Given the description of an element on the screen output the (x, y) to click on. 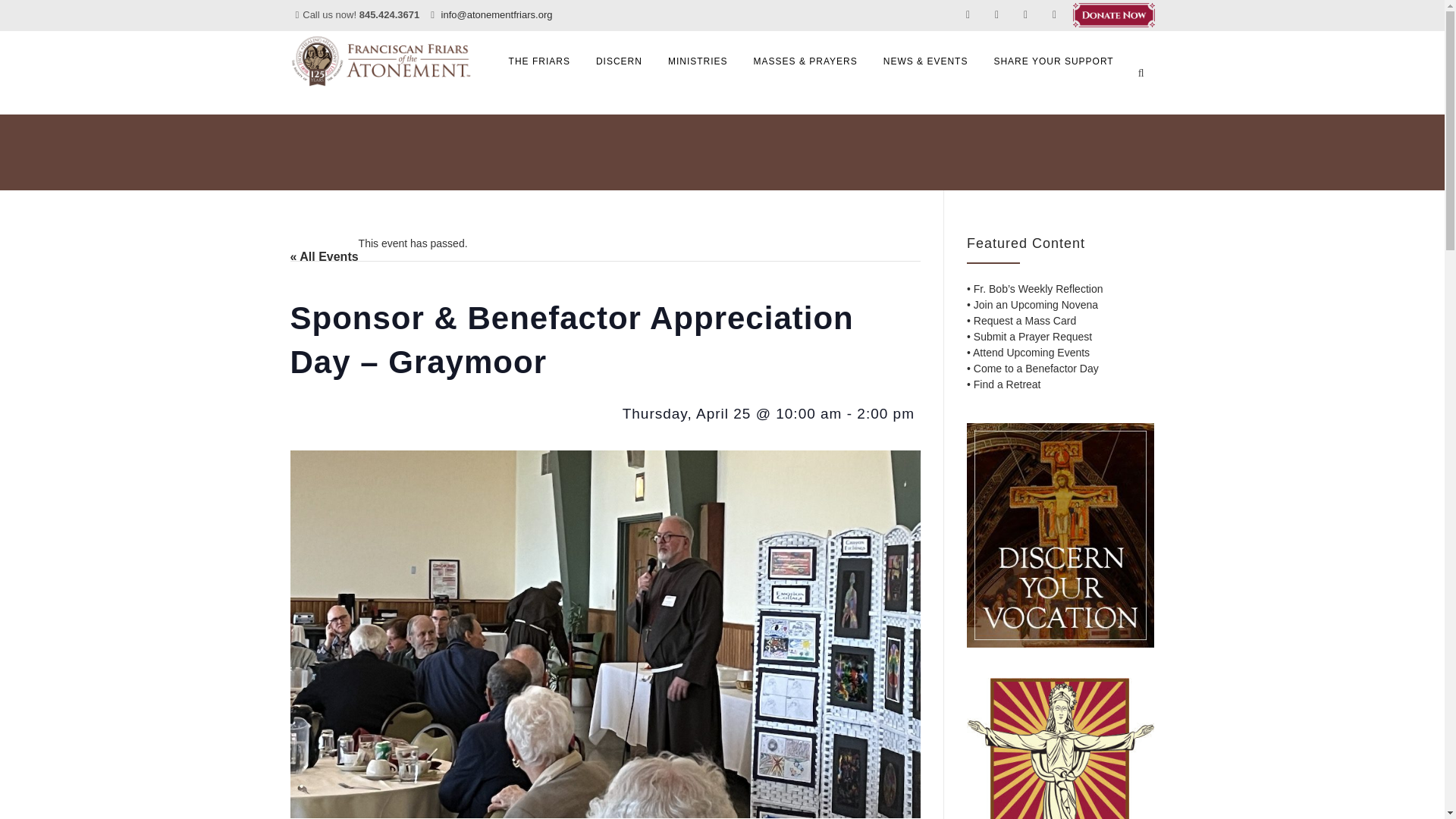
Franciscan Friars of the Atonement (380, 61)
MINISTRIES (698, 61)
THE FRIARS (539, 61)
DISCERN (619, 61)
